Given the description of an element on the screen output the (x, y) to click on. 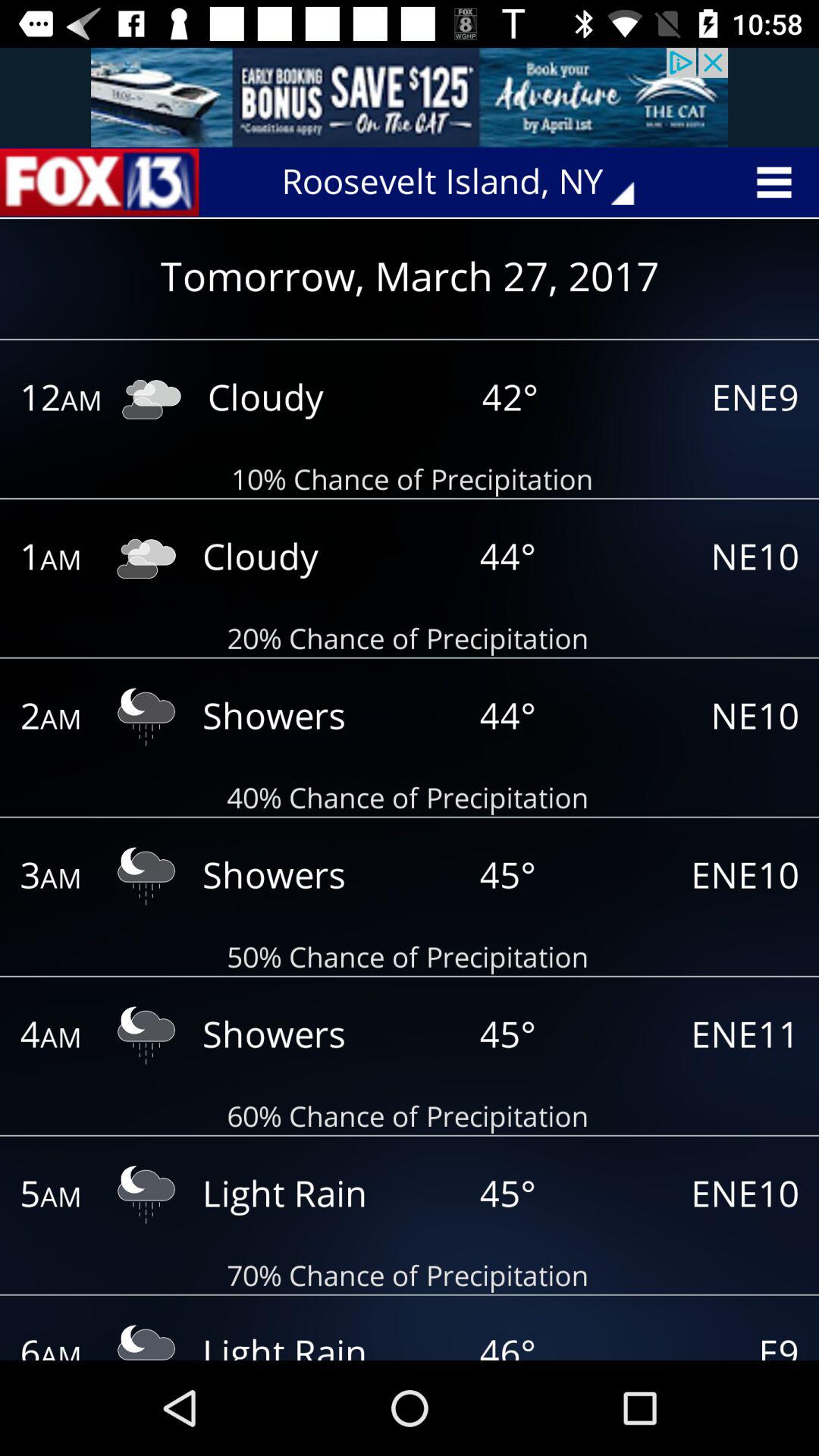
go to advertisement (409, 97)
